Given the description of an element on the screen output the (x, y) to click on. 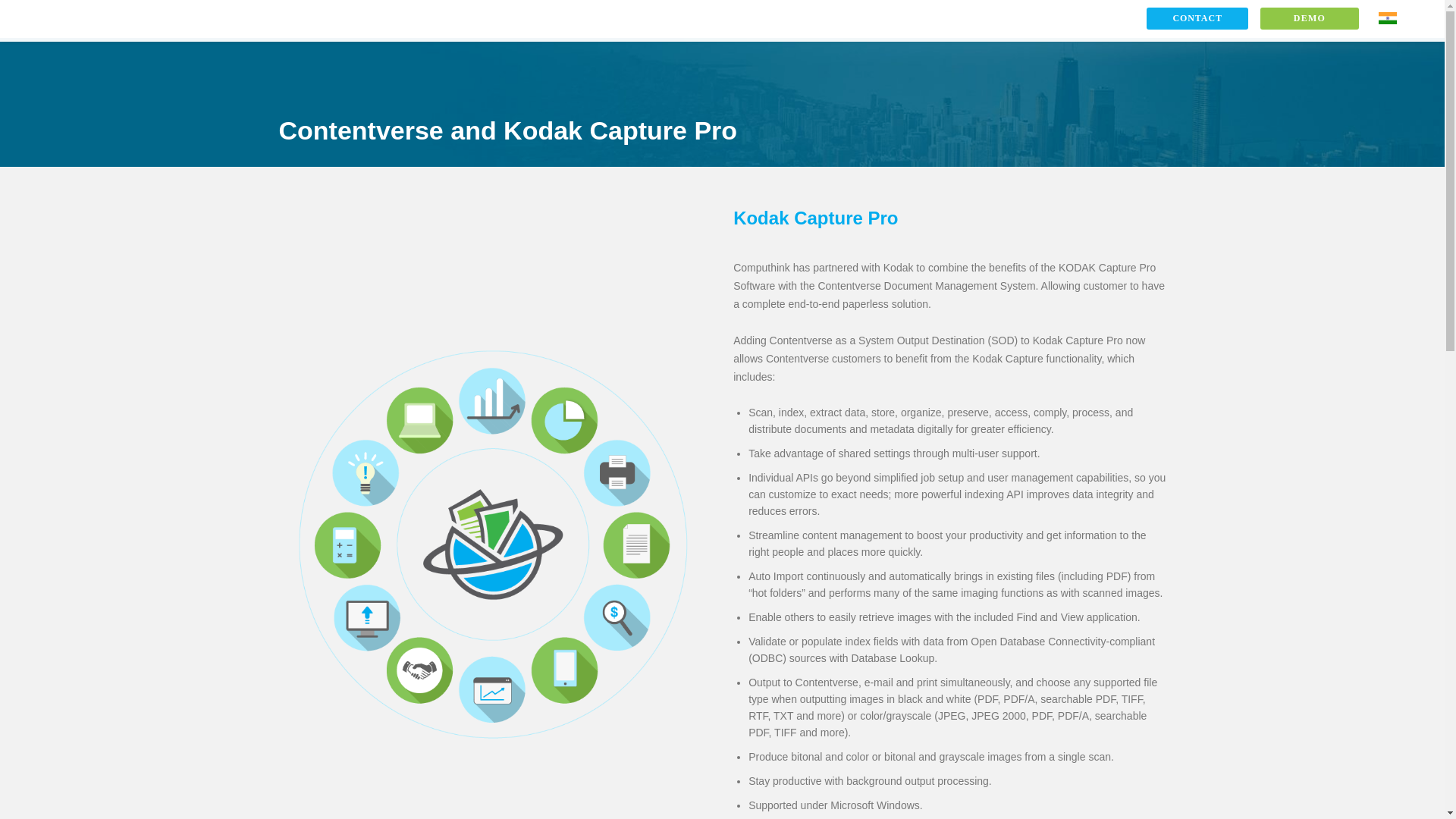
Pricing (853, 19)
DEMO (1309, 19)
Go to Computhink.in (1387, 19)
Solutions (776, 19)
Computhink (94, 18)
Support (1043, 19)
Channel Partners (947, 19)
DEMO (1309, 18)
CONTACT (1197, 18)
About (1111, 19)
